Given the description of an element on the screen output the (x, y) to click on. 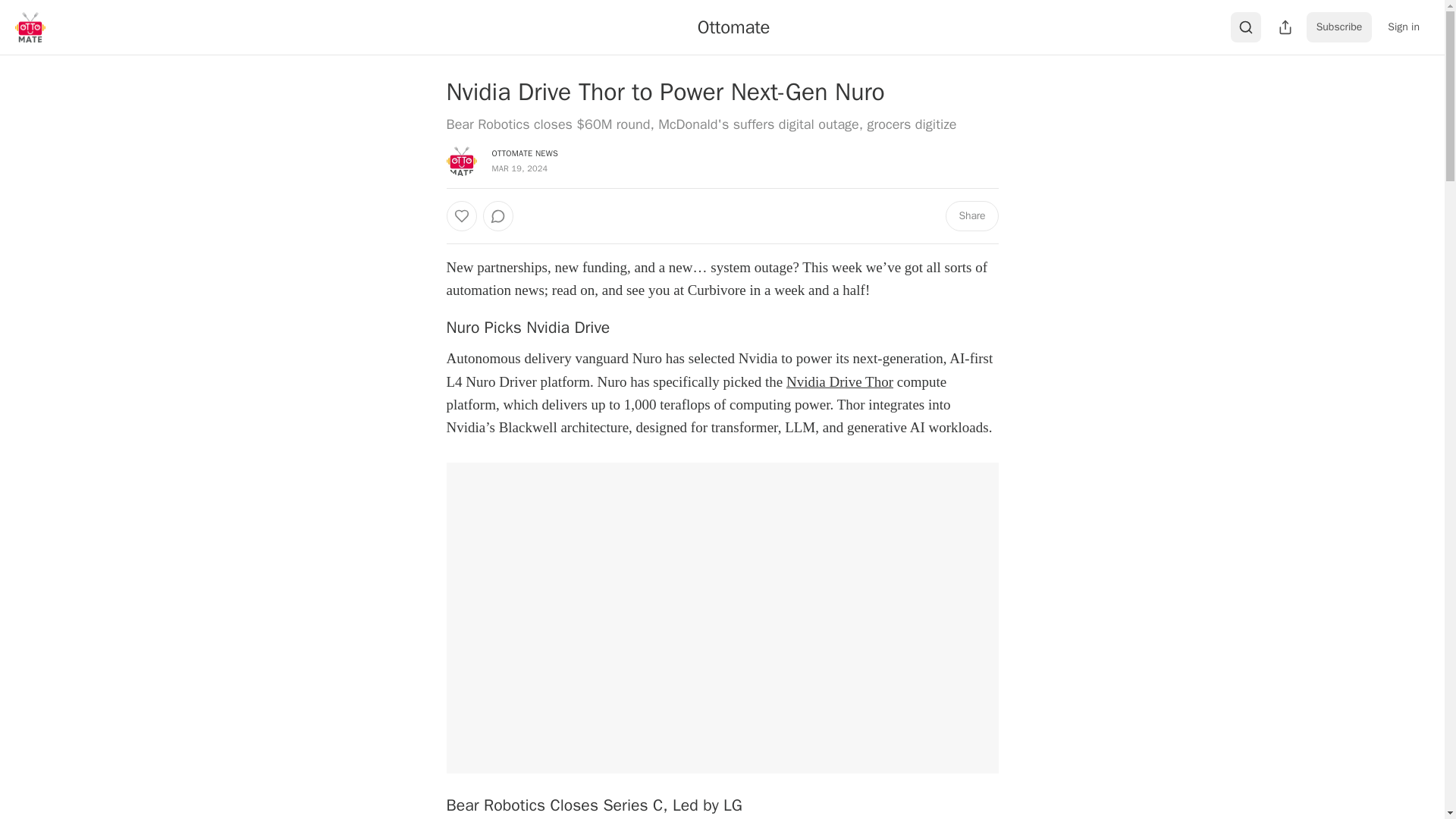
Share (970, 215)
Ottomate (733, 26)
Sign in (1403, 27)
OTTOMATE NEWS (524, 153)
Subscribe (1339, 27)
Nvidia Drive Thor (839, 381)
